Given the description of an element on the screen output the (x, y) to click on. 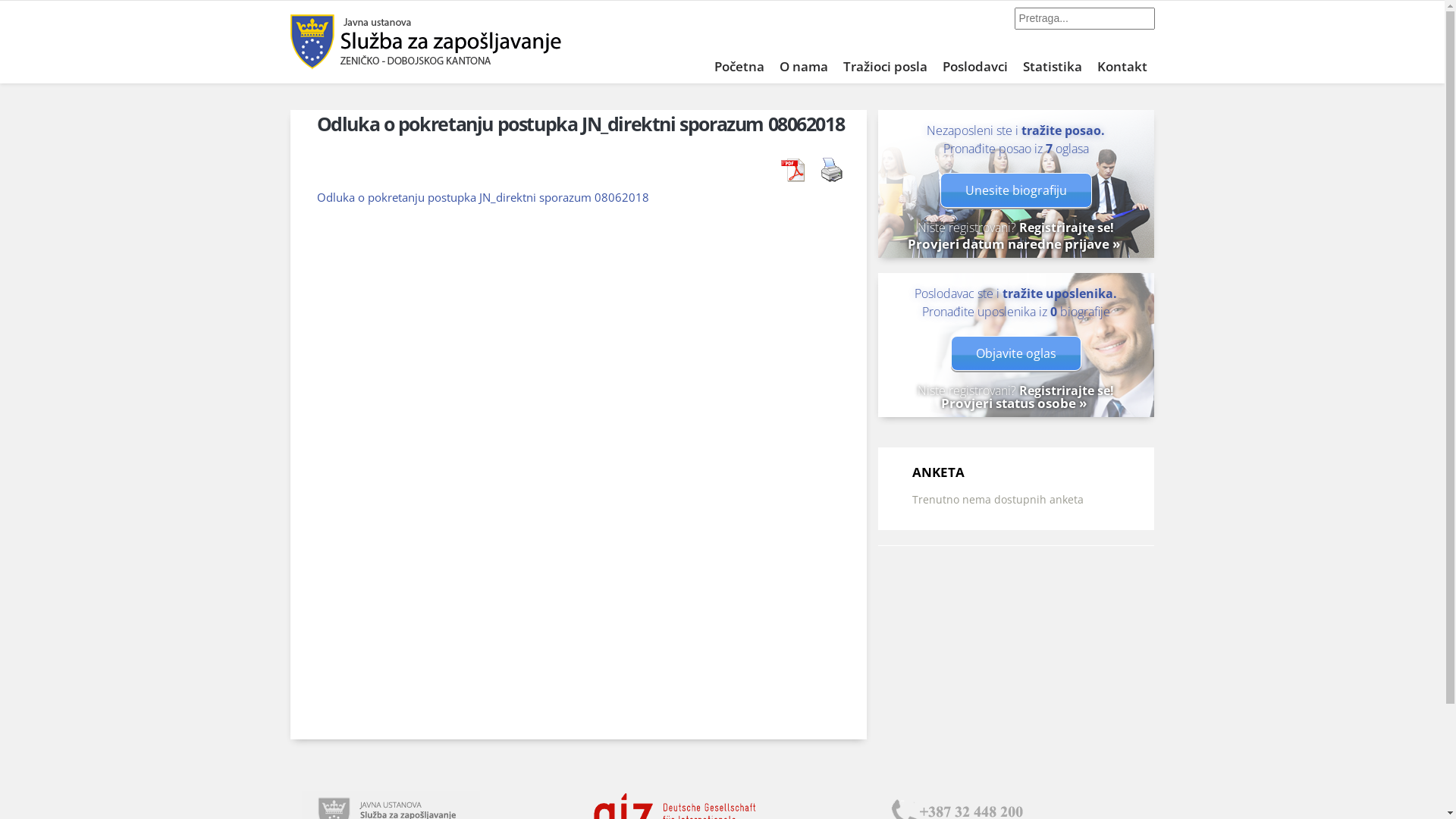
Poslodavci Element type: text (974, 64)
View PDF Element type: hover (792, 169)
Registrirajte se! Element type: text (1066, 227)
Registrirajte se! Element type: text (1066, 390)
O nama Element type: text (803, 64)
Print Content Element type: hover (831, 169)
Objavite oglas Element type: text (1015, 352)
Odluka o pokretanju postupka JN_direktni sporazum 08062018 Element type: text (482, 196)
Statistika Element type: text (1051, 64)
Unesite biografiju Element type: text (1016, 189)
Kontakt Element type: text (1121, 64)
